Given the description of an element on the screen output the (x, y) to click on. 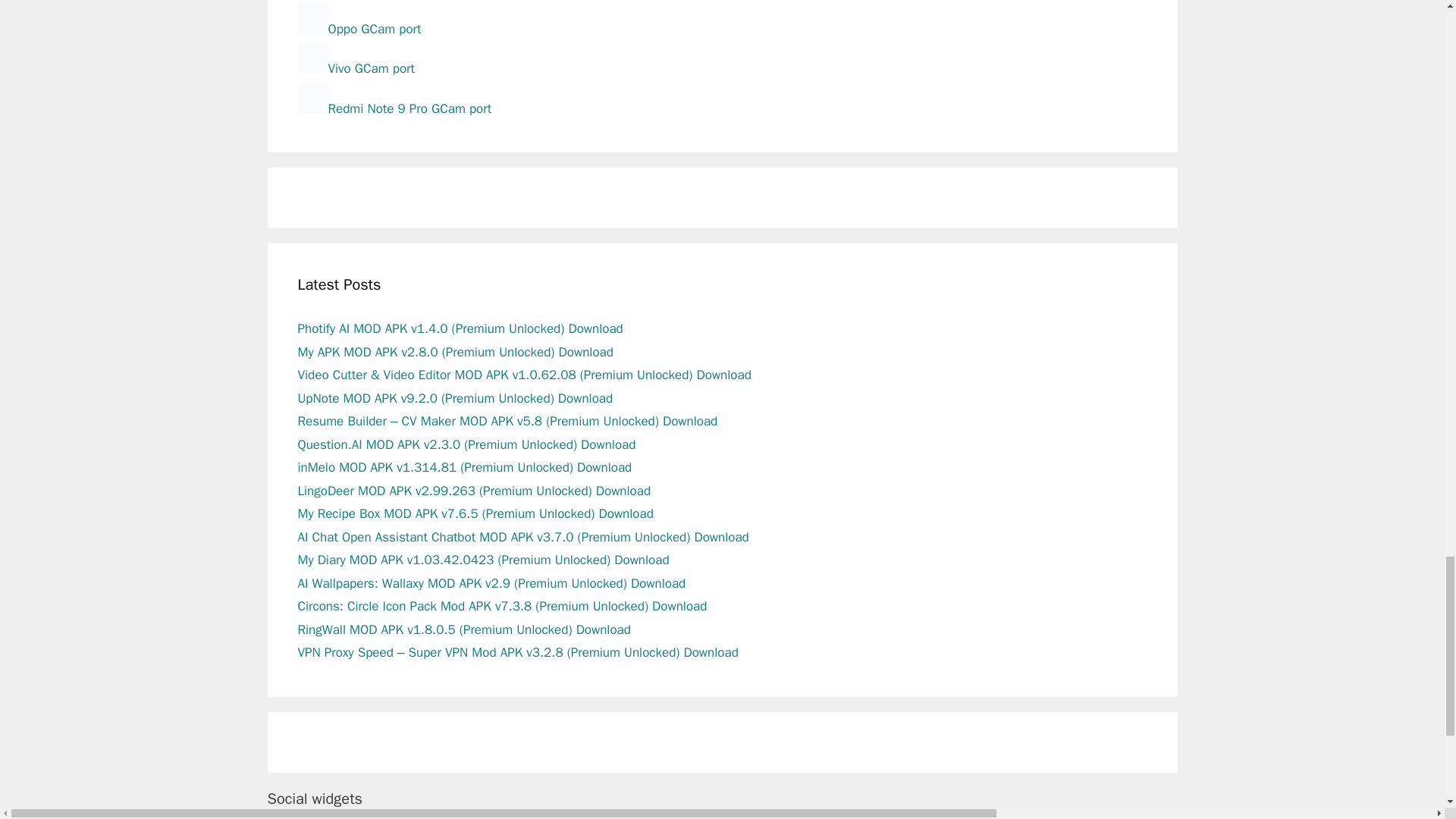
Oppo GCam port (358, 28)
Google camera port for Vivo (355, 68)
Google camera port for oppo (358, 28)
GCam port for Redmi Note 9 Pro (394, 108)
Redmi Note 9 Pro GCam port (394, 108)
Vivo GCam port (355, 68)
